Given the description of an element on the screen output the (x, y) to click on. 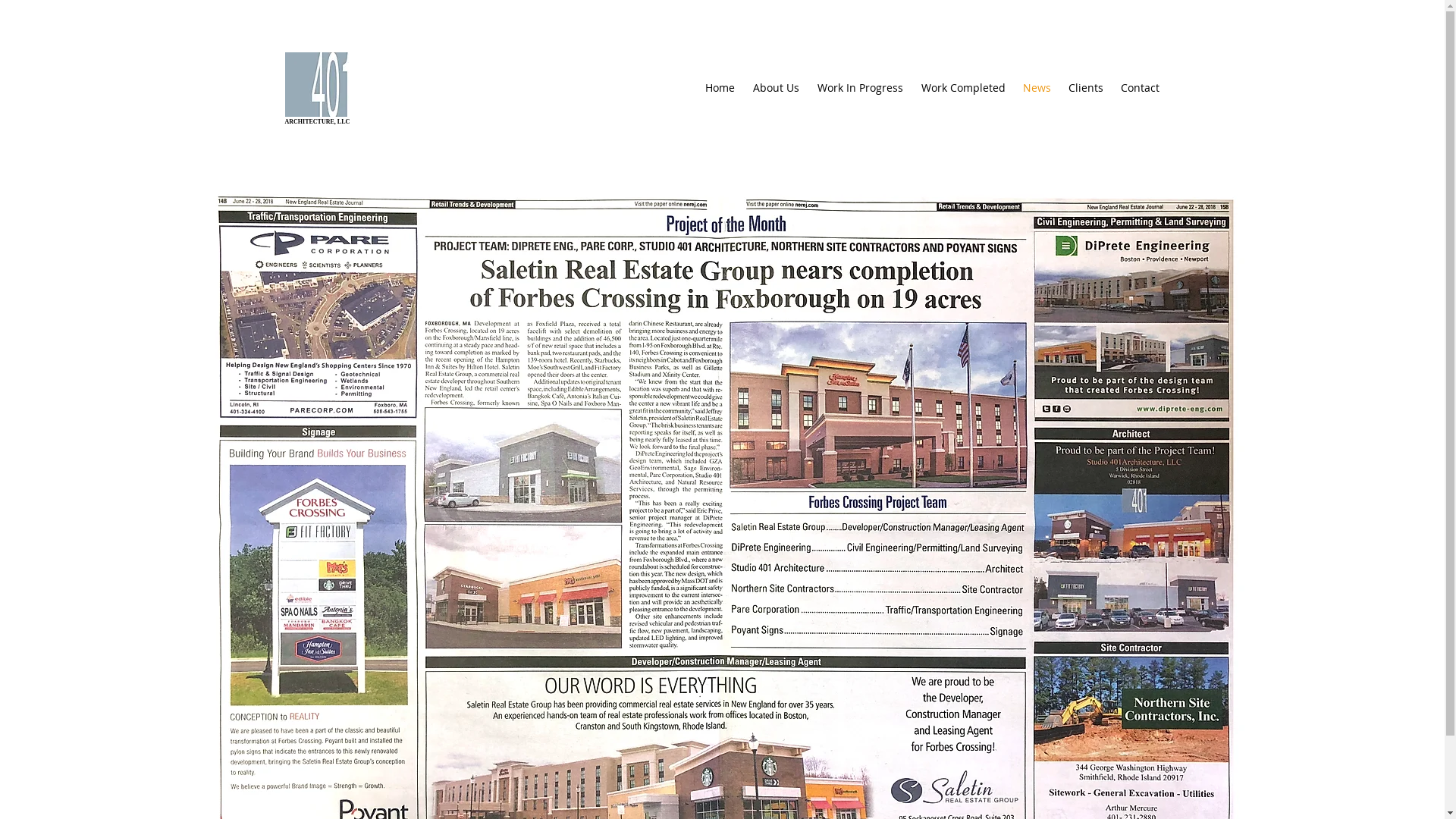
About Us Element type: text (773, 87)
News Element type: text (1035, 87)
Clients Element type: text (1084, 87)
401Architecture Element type: hover (316, 84)
Home Element type: text (718, 87)
Work In Progress Element type: text (858, 87)
Work Completed Element type: text (961, 87)
Contact Element type: text (1138, 87)
